Given the description of an element on the screen output the (x, y) to click on. 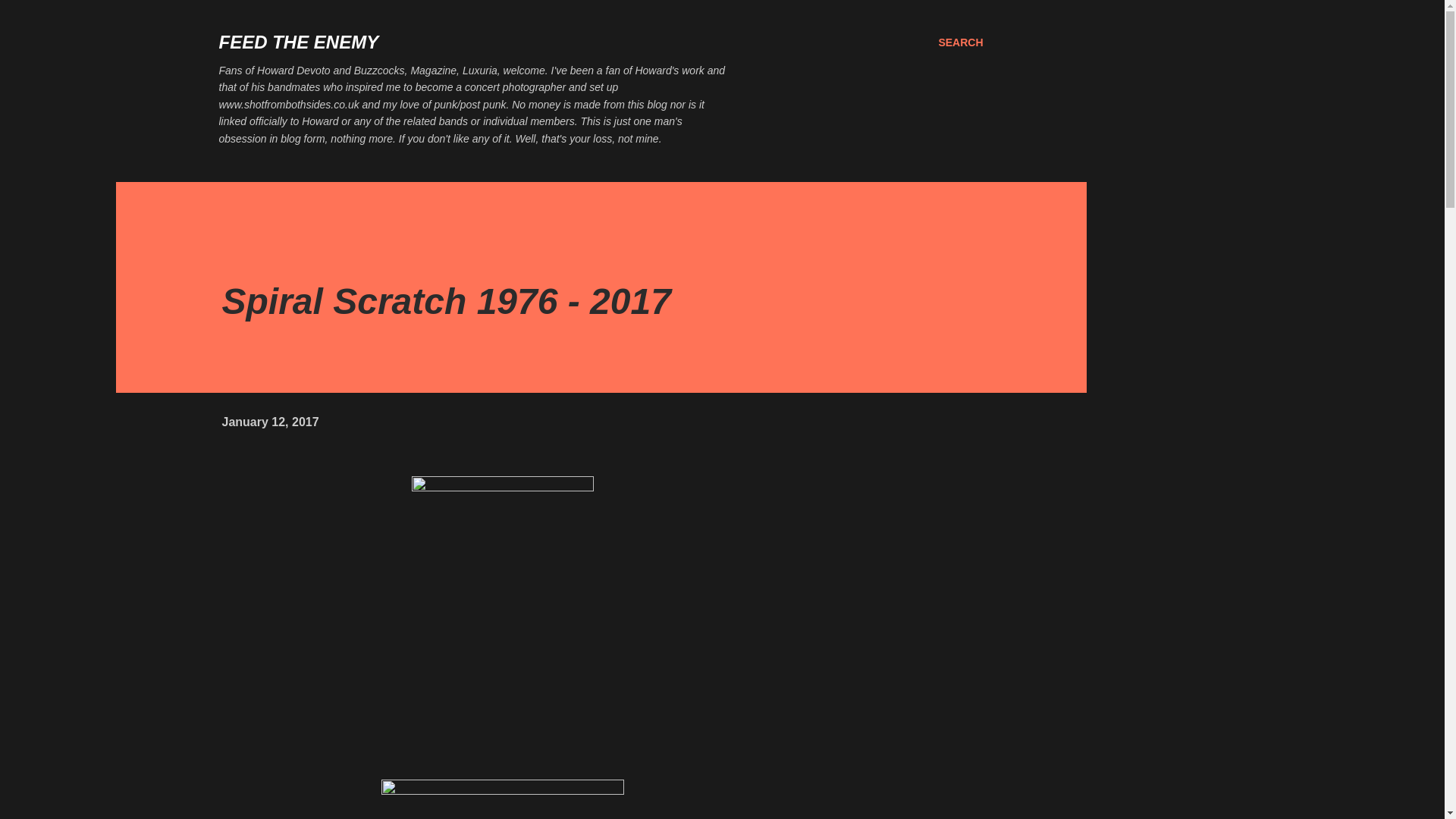
January 12, 2017 (269, 421)
permanent link (269, 421)
FEED THE ENEMY (298, 41)
SEARCH (959, 42)
